Given the description of an element on the screen output the (x, y) to click on. 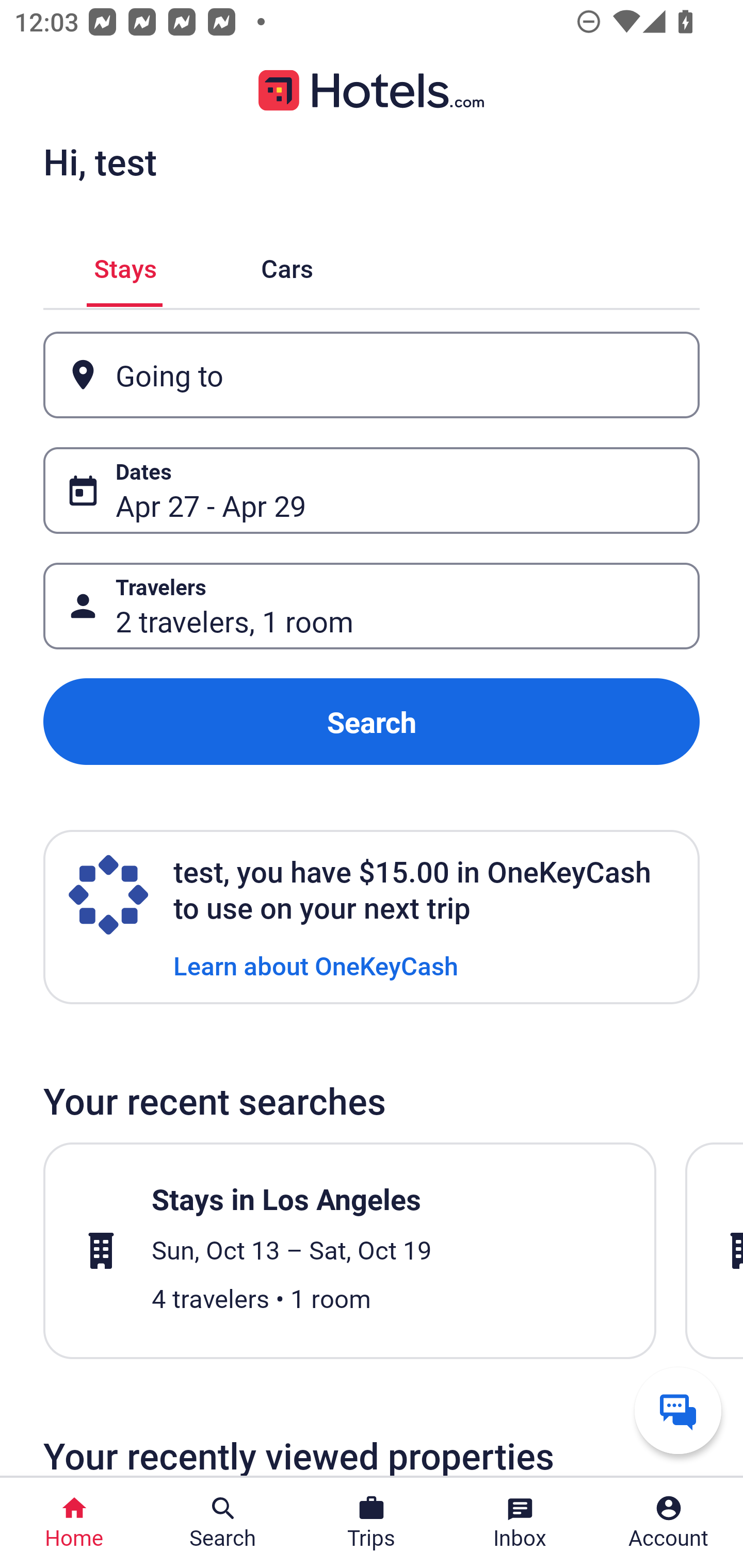
Hi, test (99, 161)
Cars (286, 265)
Going to Button (371, 375)
Dates Button Apr 27 - Apr 29 (371, 489)
Travelers Button 2 travelers, 1 room (371, 605)
Search (371, 721)
Learn about OneKeyCash Learn about OneKeyCash Link (315, 964)
Get help from a virtual agent (677, 1410)
Search Search Button (222, 1522)
Trips Trips Button (371, 1522)
Inbox Inbox Button (519, 1522)
Account Profile. Button (668, 1522)
